Given the description of an element on the screen output the (x, y) to click on. 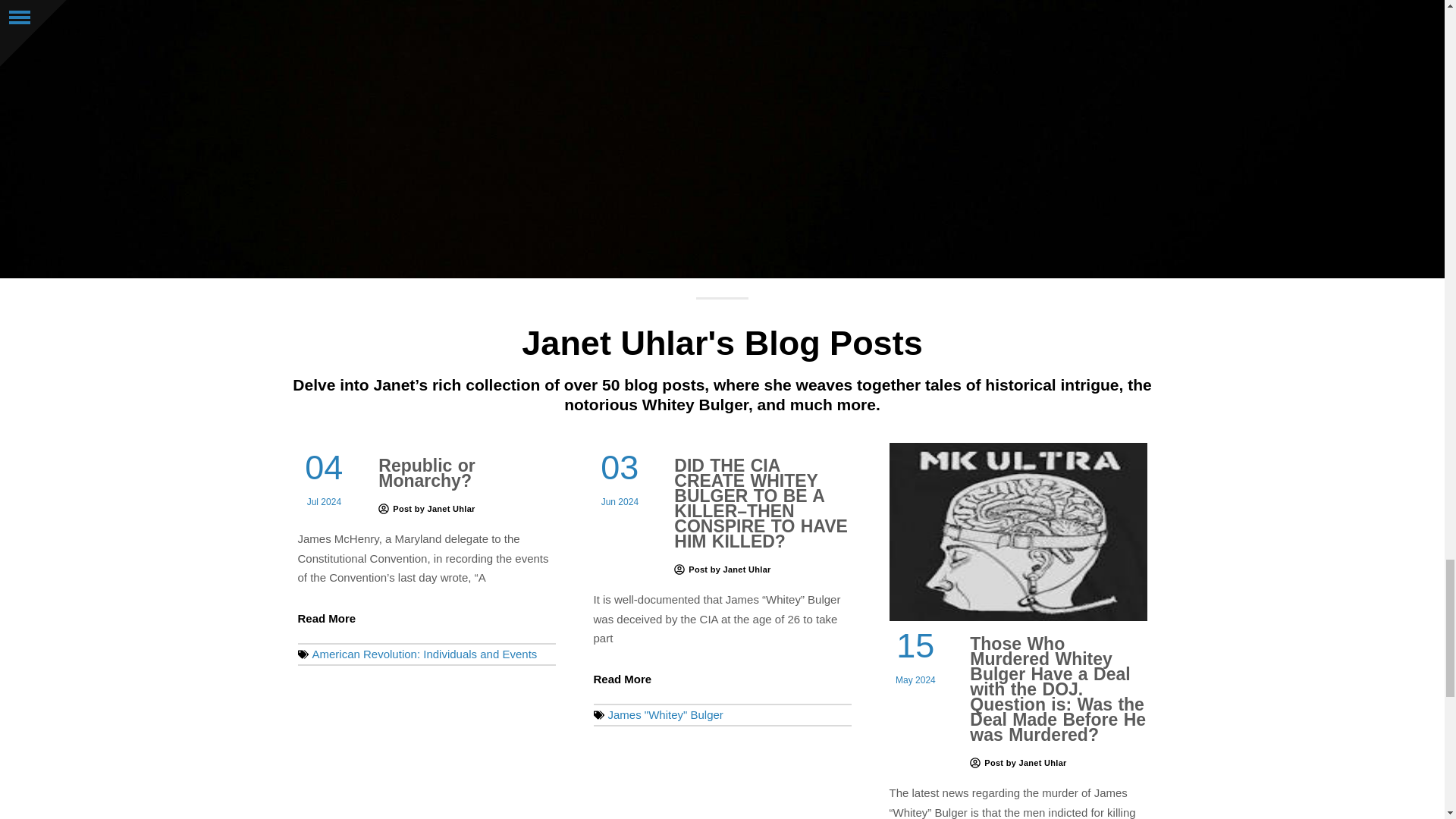
Republic or Monarchy? (427, 472)
Post by Janet Uhlar (722, 569)
Post by Janet Uhlar (1017, 762)
Jul 2024 (322, 502)
Read More (621, 678)
May 2024 (914, 680)
Jun 2024 (618, 502)
Post by Janet Uhlar (426, 508)
American Revolution: Individuals and Events (425, 653)
15 (913, 646)
03 (618, 467)
04 (322, 467)
Read More (326, 618)
James "Whitey" Bulger (665, 714)
